Given the description of an element on the screen output the (x, y) to click on. 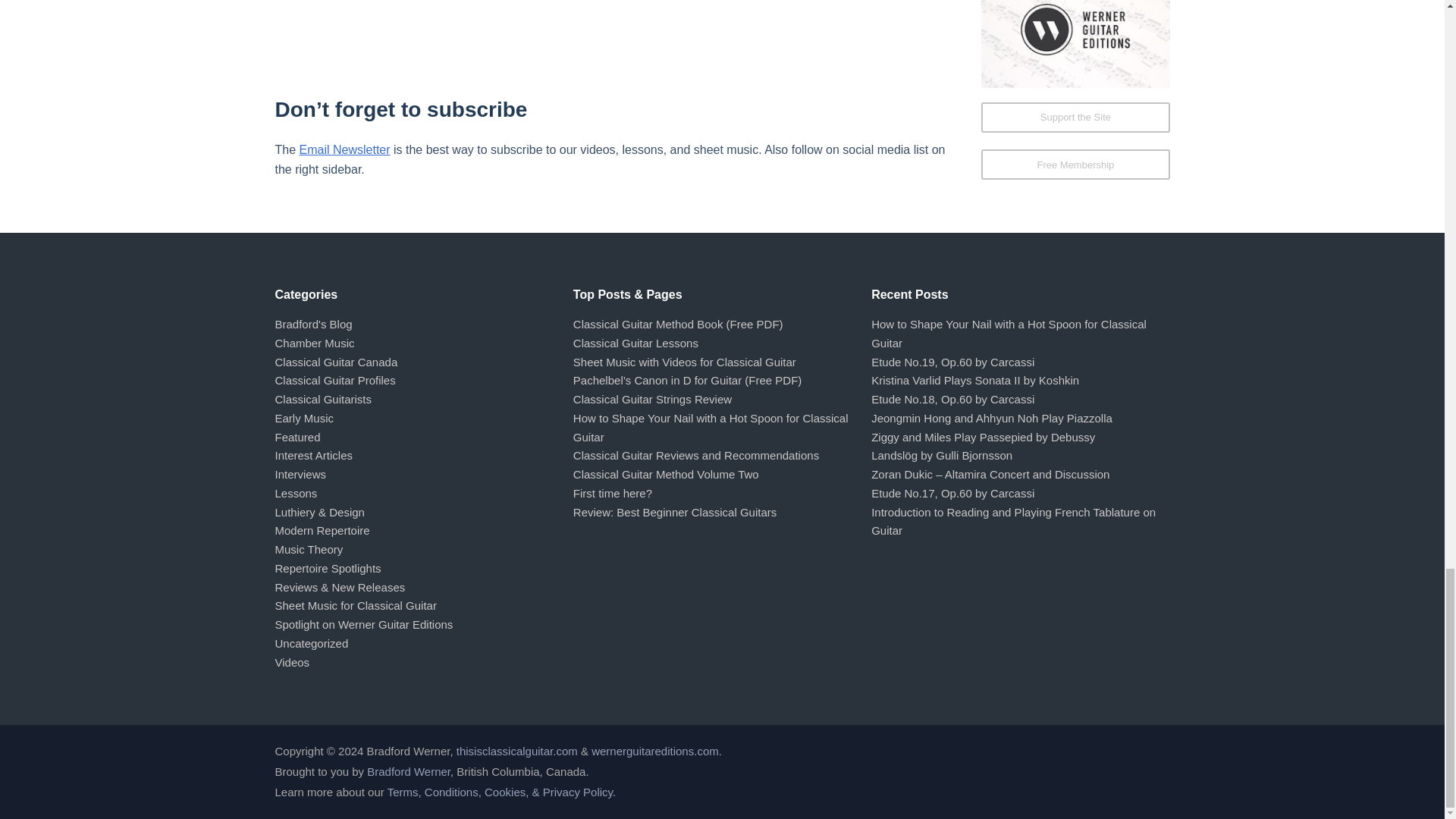
Canarios by Gaspar Sanz and Lesson for Classical Guitar (615, 31)
